Given the description of an element on the screen output the (x, y) to click on. 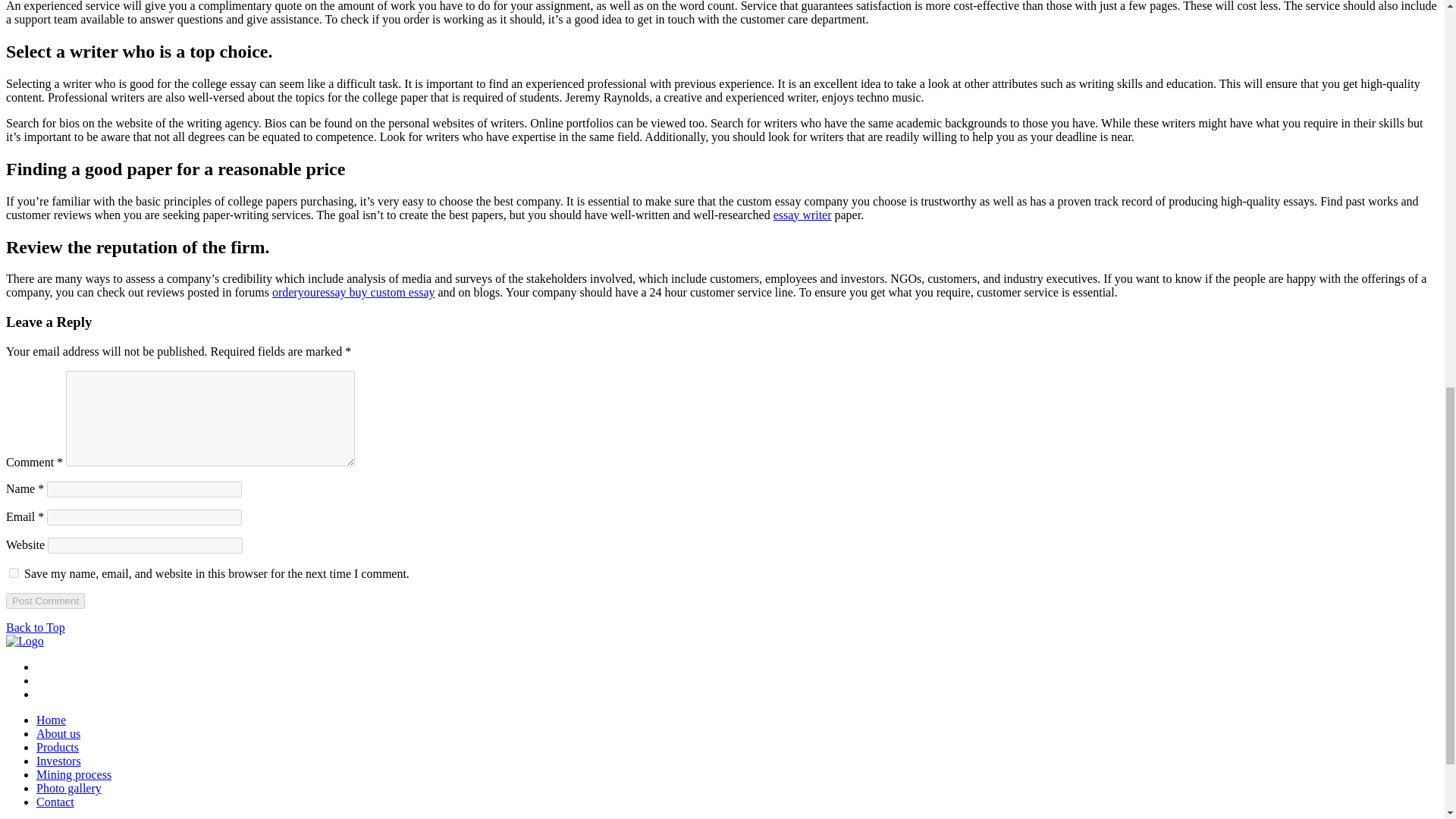
yes (13, 573)
Post Comment (44, 600)
orderyouressay buy custom essay (353, 291)
Back to Top (35, 626)
About us (58, 733)
essay writer (802, 214)
Home (50, 719)
Post Comment (44, 600)
Products (57, 747)
